Given the description of an element on the screen output the (x, y) to click on. 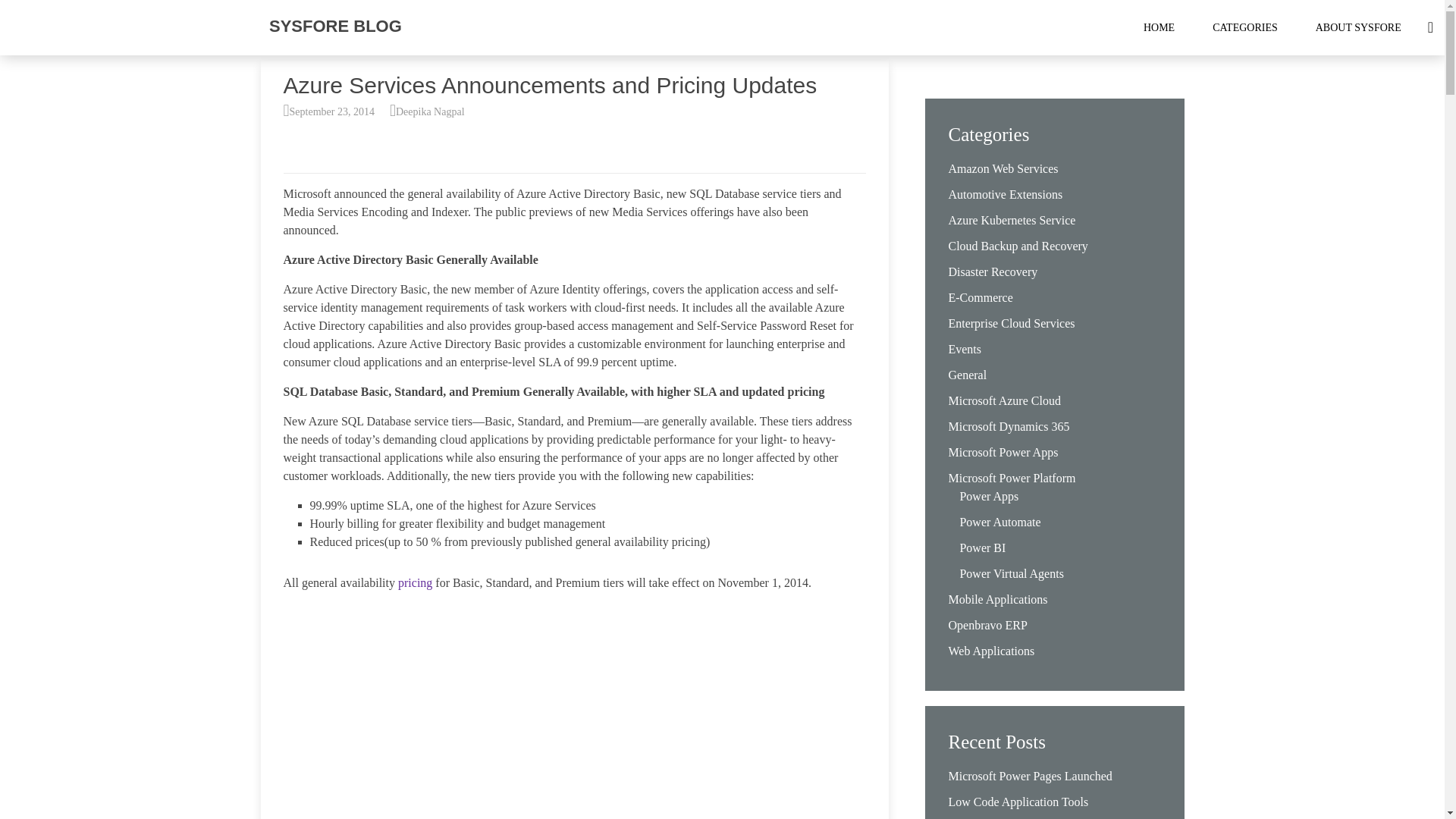
Deepika Nagpal (430, 111)
SYSFORE BLOG (335, 26)
pricing (414, 582)
CATEGORIES (1245, 27)
ABOUT SYSFORE (1359, 27)
HOME (1158, 27)
SKIP TO CONTENT (1188, 27)
Sysfore Blog (335, 26)
September 23, 2014 (331, 111)
